Given the description of an element on the screen output the (x, y) to click on. 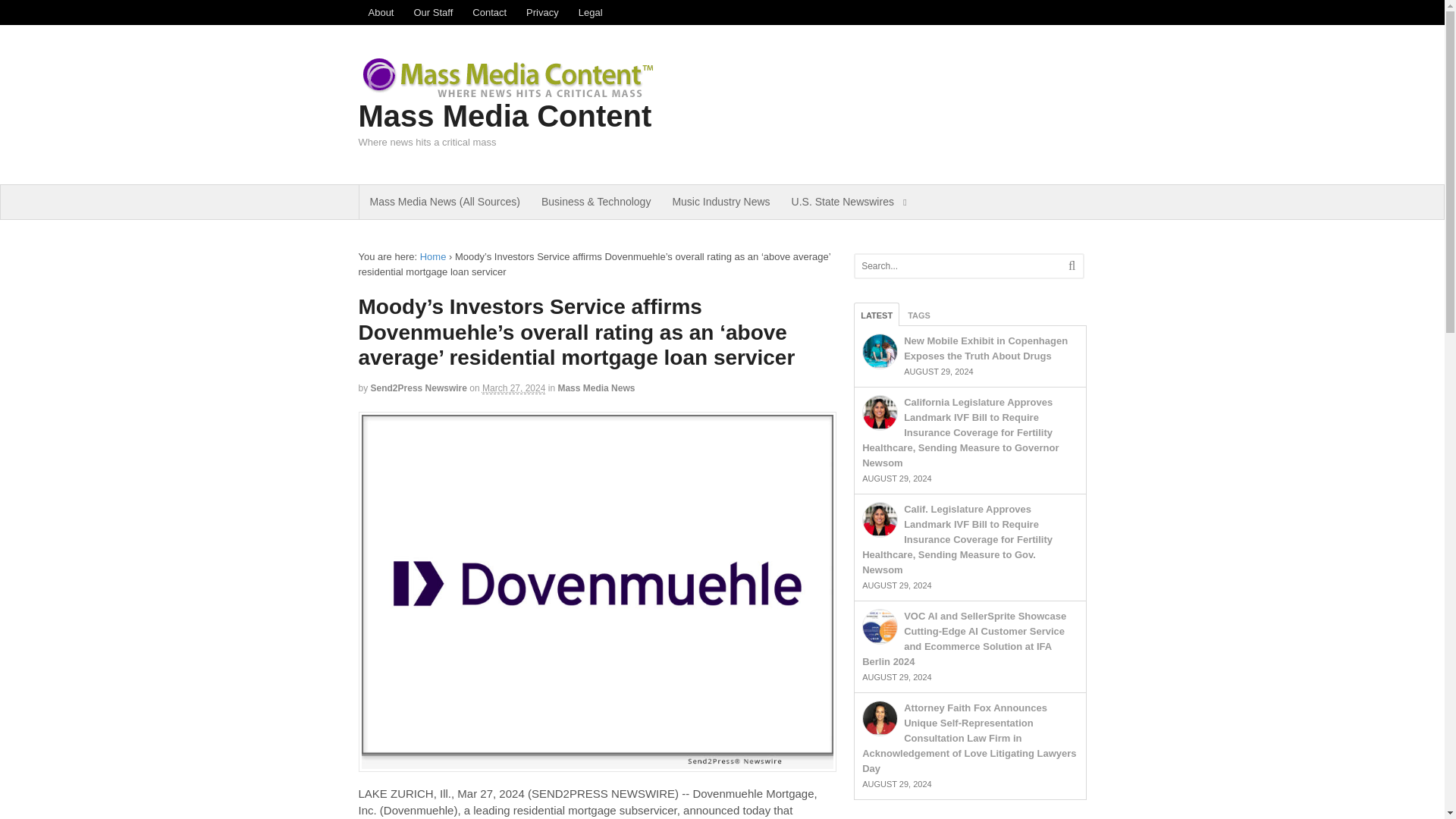
View all items in Mass Media News (595, 388)
Send2Press Newswire (419, 388)
Search... (958, 265)
About (380, 12)
2024-03-27T07:00:31-0400 (512, 388)
Music Industry News (720, 202)
Privacy (542, 12)
